Given the description of an element on the screen output the (x, y) to click on. 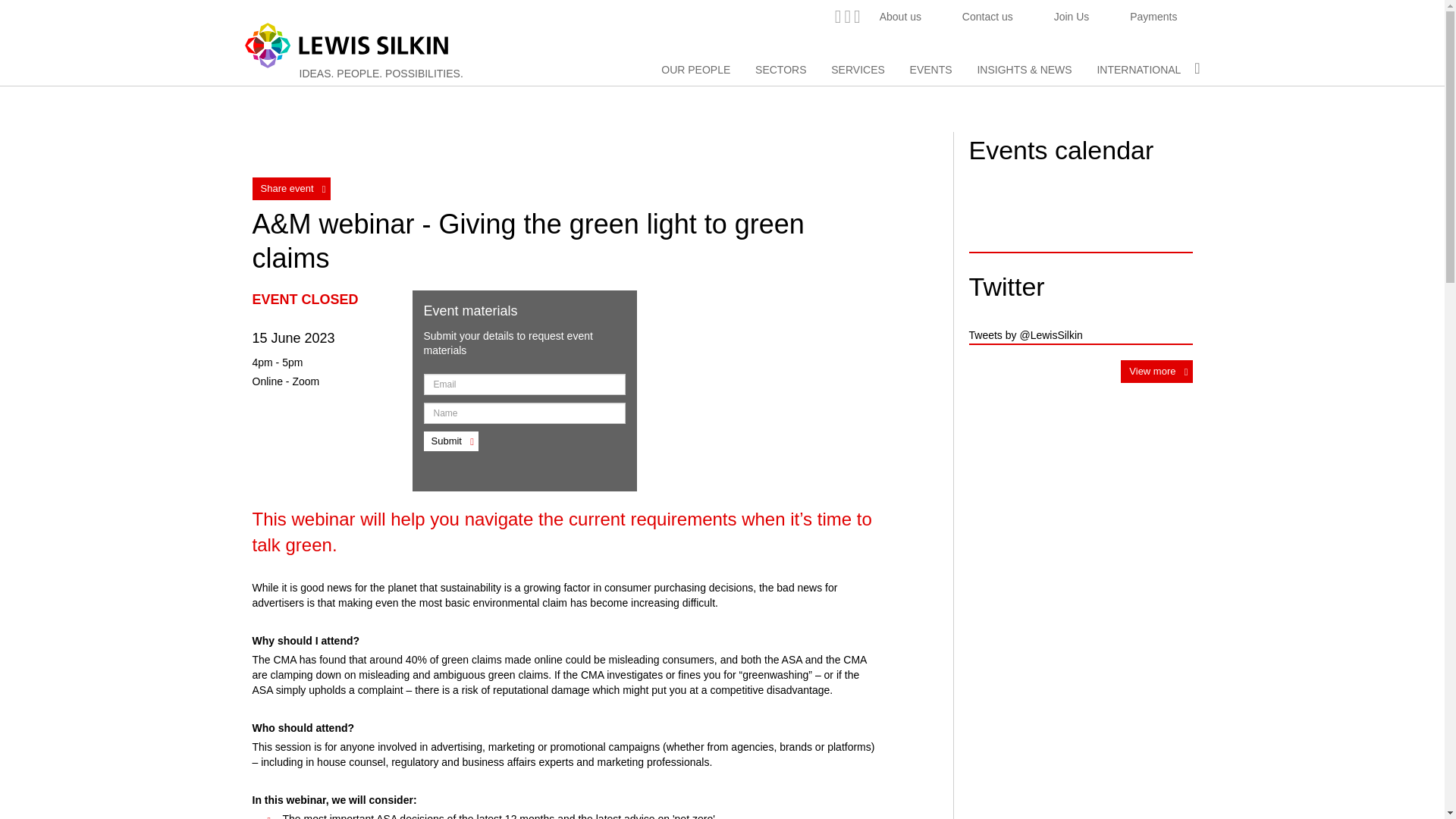
OUR PEOPLE (695, 69)
Payments (1153, 16)
SERVICES (858, 69)
IDEAS. PEOPLE. POSSIBILITIES. (380, 73)
Join Us (1071, 16)
Contact us (987, 16)
About us (900, 16)
SECTORS (780, 69)
